Given the description of an element on the screen output the (x, y) to click on. 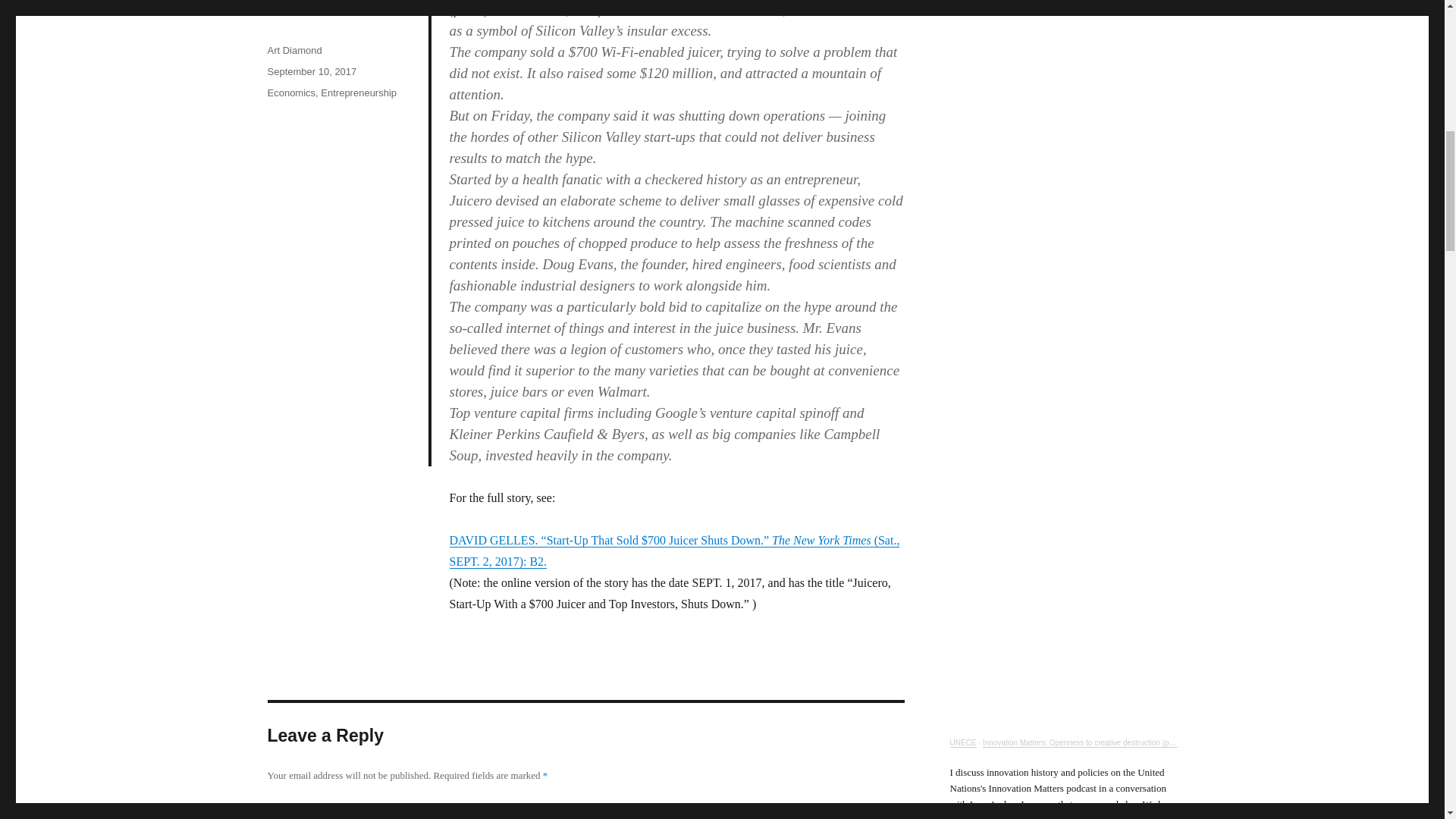
Art Diamond (293, 50)
Economics (290, 92)
UNECE (962, 742)
Entrepreneurship (358, 92)
UNECE (962, 742)
September 10, 2017 (311, 71)
